Given the description of an element on the screen output the (x, y) to click on. 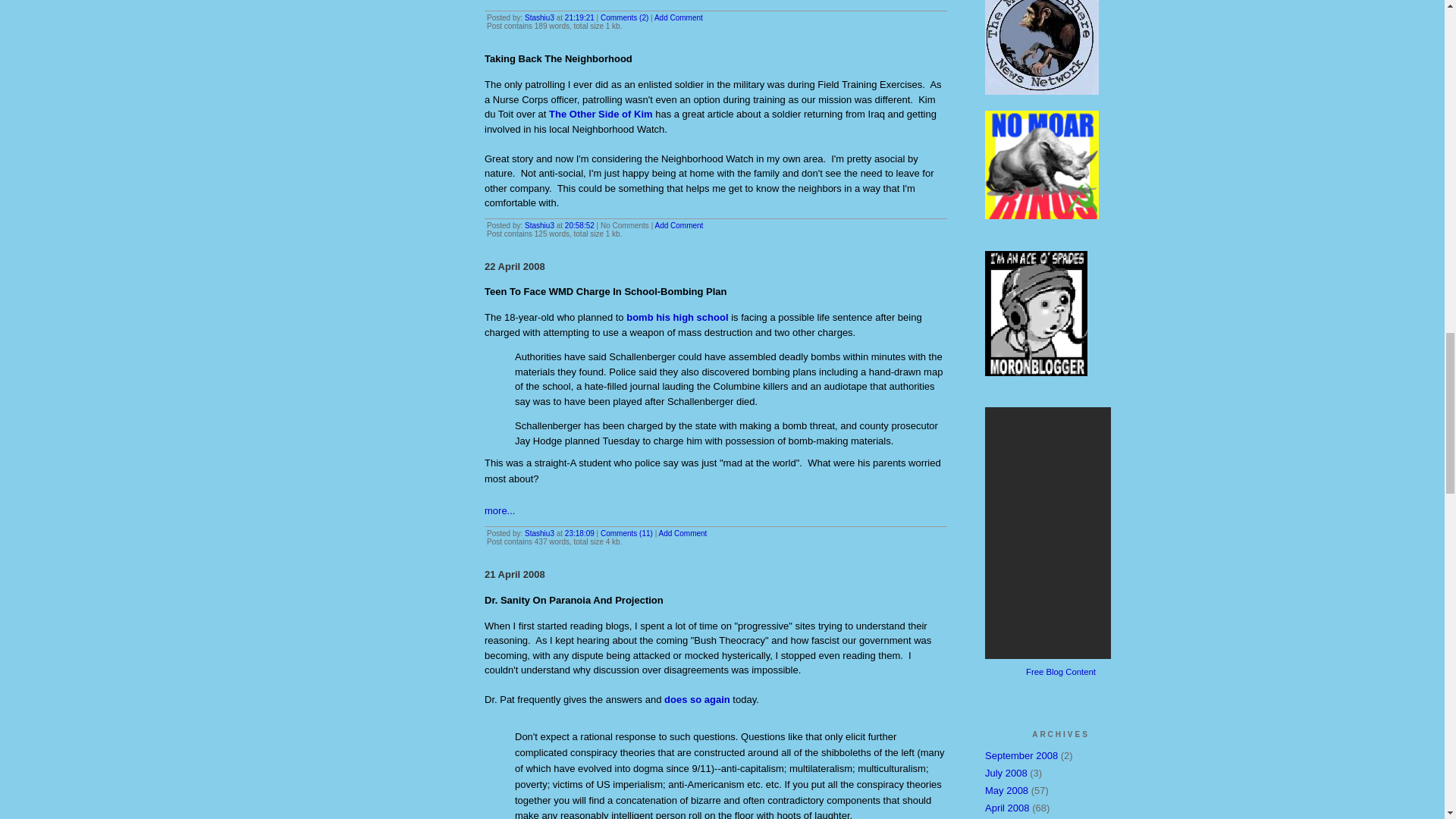
The Other Side of Kim (600, 113)
does so again (696, 699)
bomb his high school (677, 317)
